Given the description of an element on the screen output the (x, y) to click on. 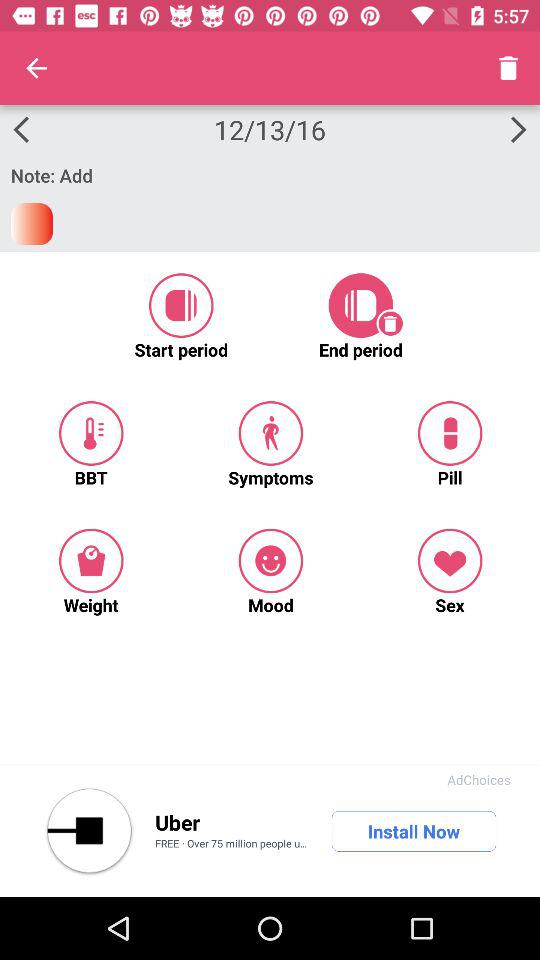
choose the adchoices app (478, 779)
